Given the description of an element on the screen output the (x, y) to click on. 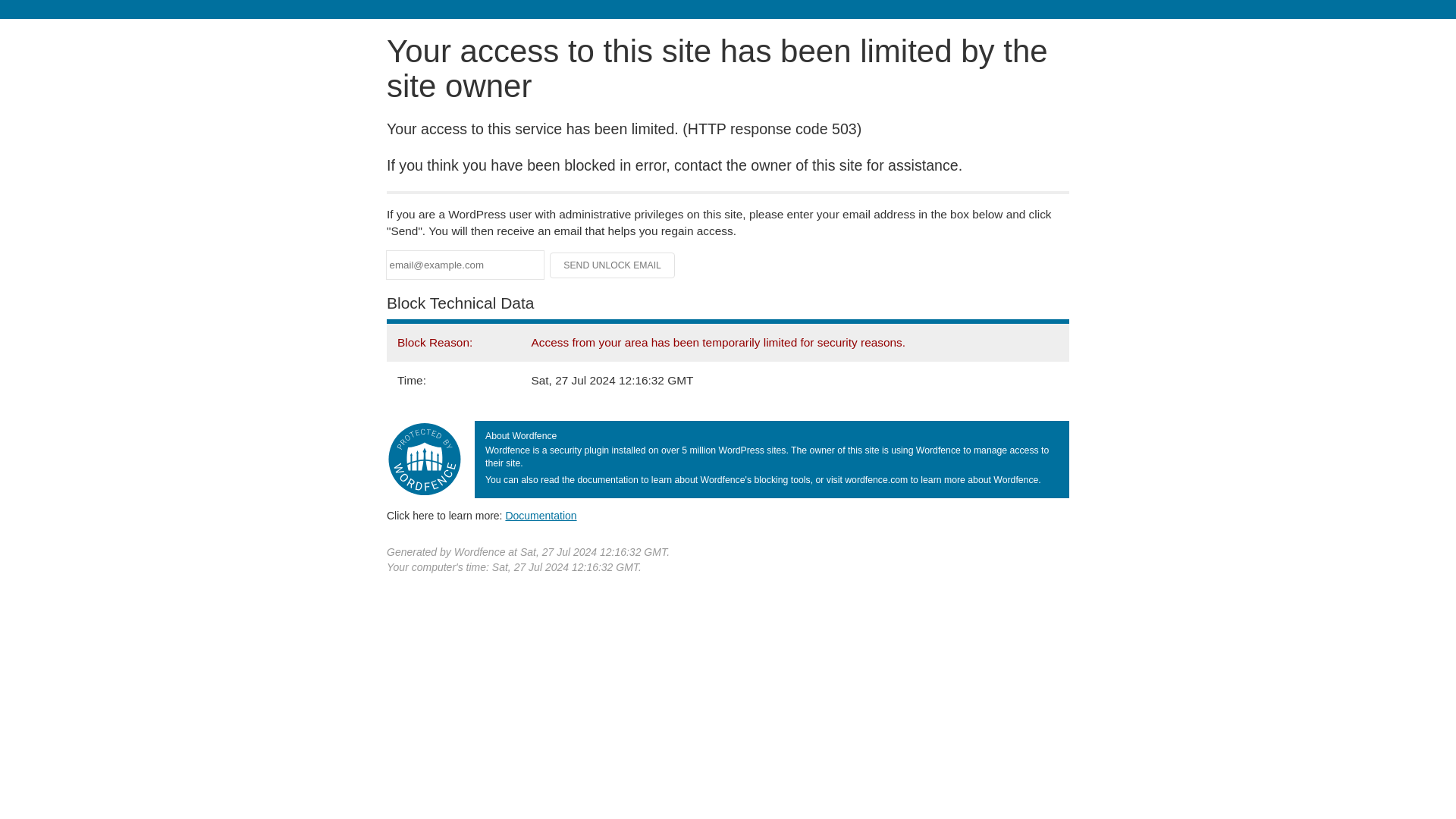
Documentation (540, 515)
Send Unlock Email (612, 265)
Send Unlock Email (612, 265)
